Given the description of an element on the screen output the (x, y) to click on. 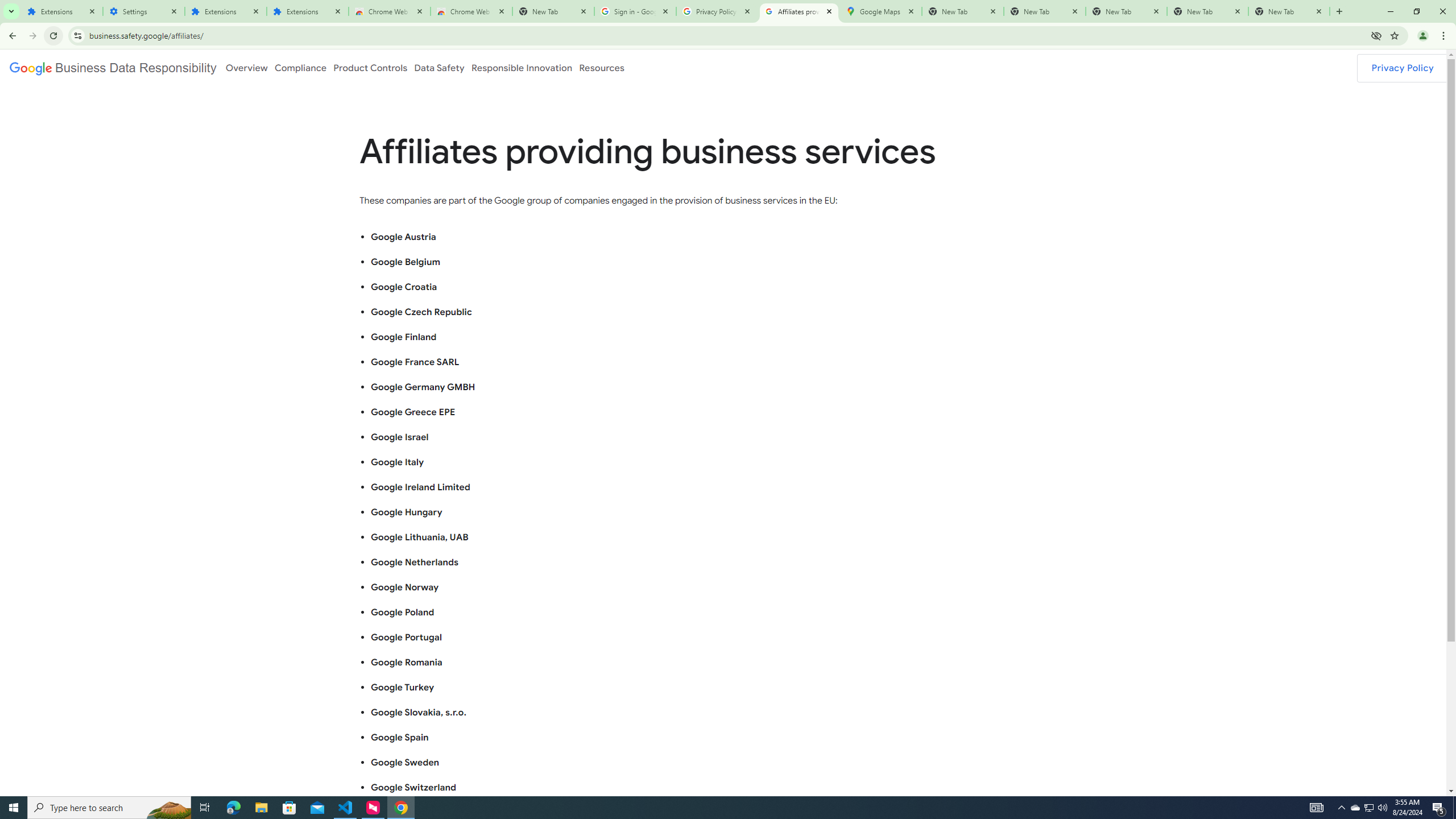
Extensions (307, 11)
Resources (601, 67)
Extensions (61, 11)
Settings (143, 11)
Overview (245, 67)
Google Maps (880, 11)
Data Safety (438, 67)
Chrome Web Store (389, 11)
Responsible Innovation (521, 67)
